Given the description of an element on the screen output the (x, y) to click on. 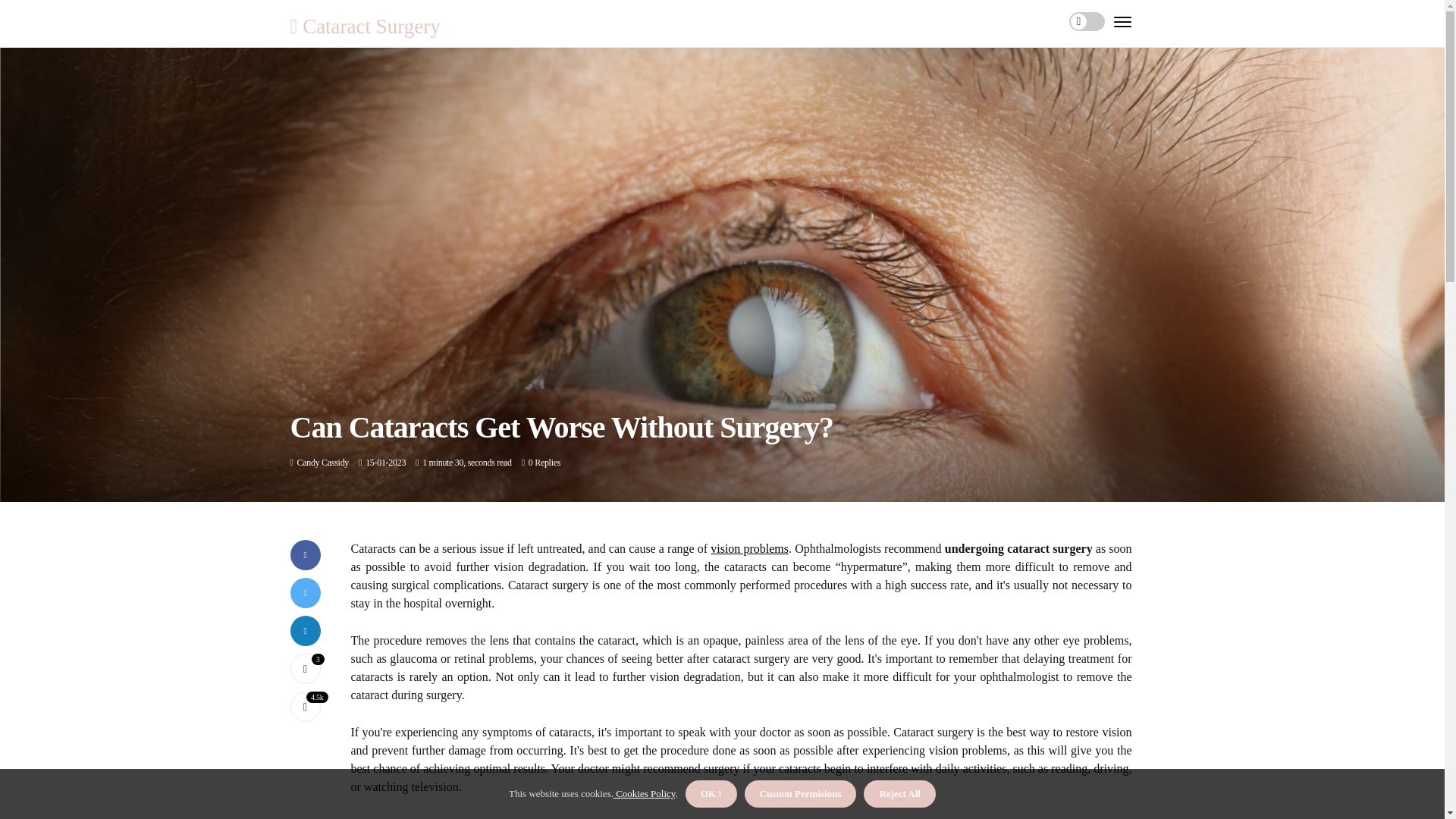
3 (304, 668)
0 Replies (544, 462)
Candy Cassidy (323, 462)
Cataract Surgery (364, 26)
Posts by Candy Cassidy (323, 462)
Like (304, 668)
vision problems (749, 548)
